Given the description of an element on the screen output the (x, y) to click on. 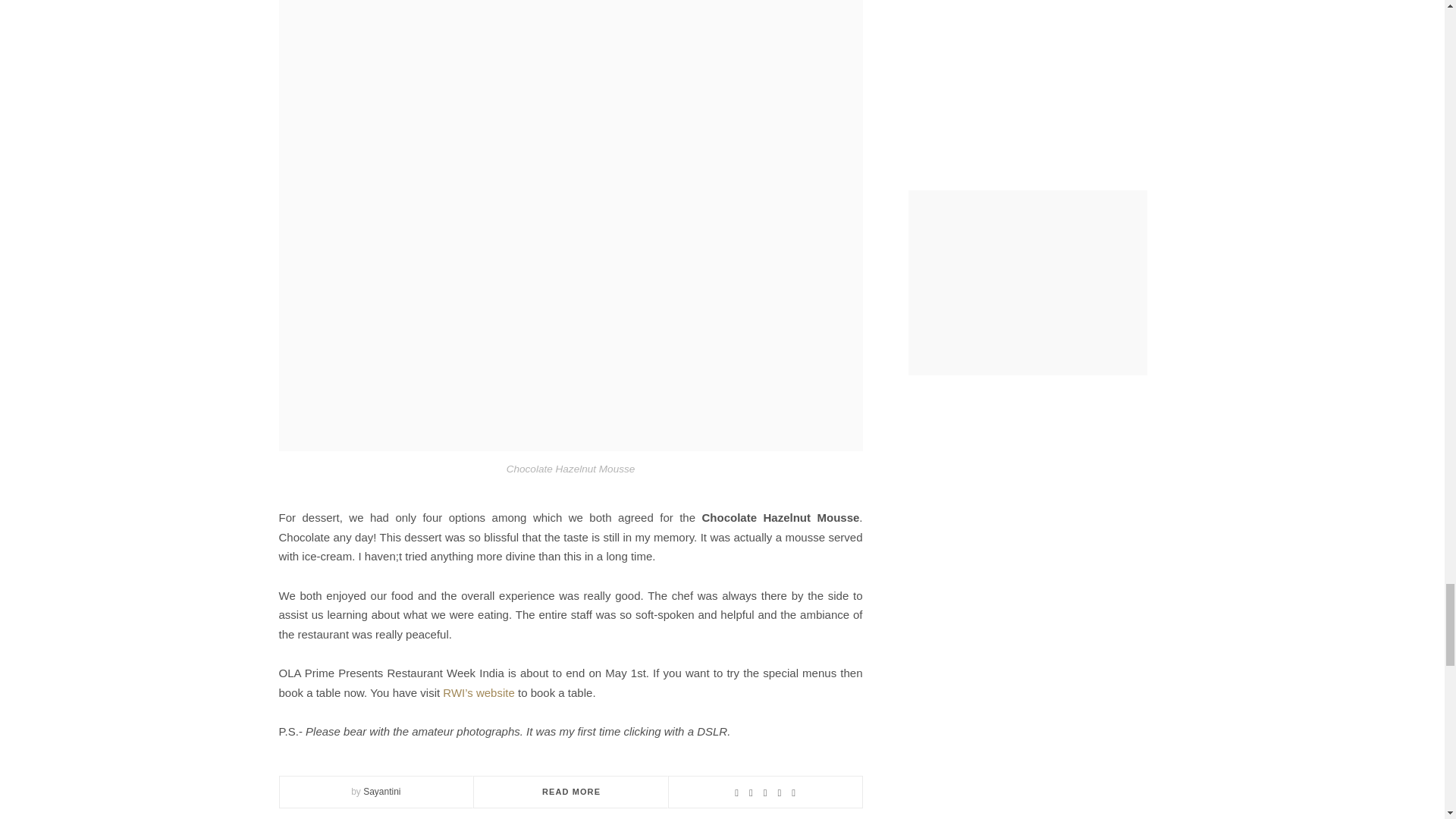
READ MORE (570, 791)
Posts by Sayantini (381, 791)
Sayantini (381, 791)
Share on Twitter (764, 792)
